Given the description of an element on the screen output the (x, y) to click on. 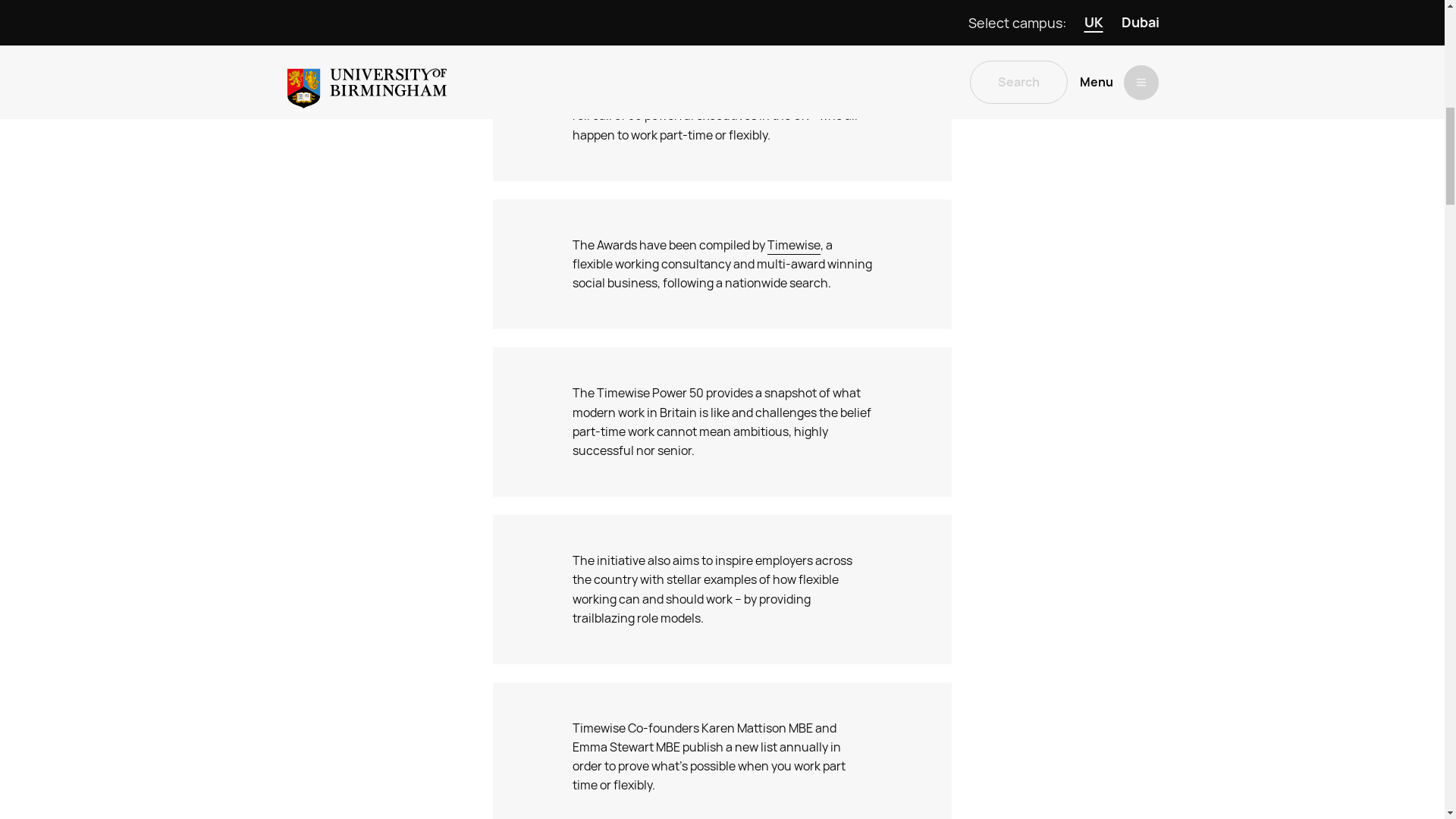
Timewise (794, 245)
Timewise Power 50 Awards (784, 96)
